Given the description of an element on the screen output the (x, y) to click on. 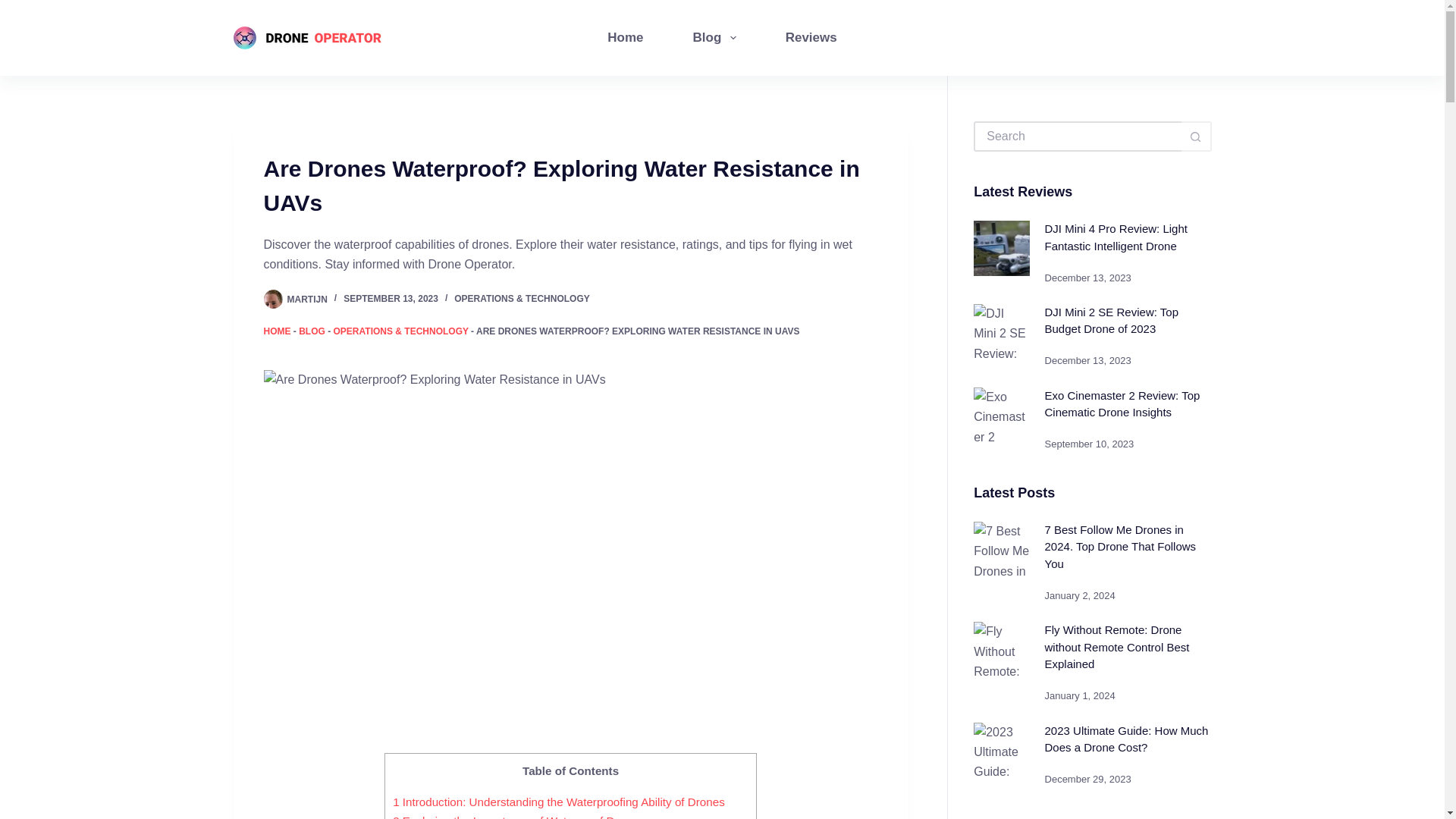
HOME (277, 330)
Posts by Martijn (306, 298)
Search for... (1077, 136)
Are Drones Waterproof? Exploring Water Resistance in UAVs (570, 185)
Blog (714, 38)
MARTIJN (306, 298)
Reviews (810, 38)
Home (625, 38)
Skip to content (15, 7)
2 Exploring the Importance of Waterproof Drones (518, 816)
BLOG (311, 330)
